Given the description of an element on the screen output the (x, y) to click on. 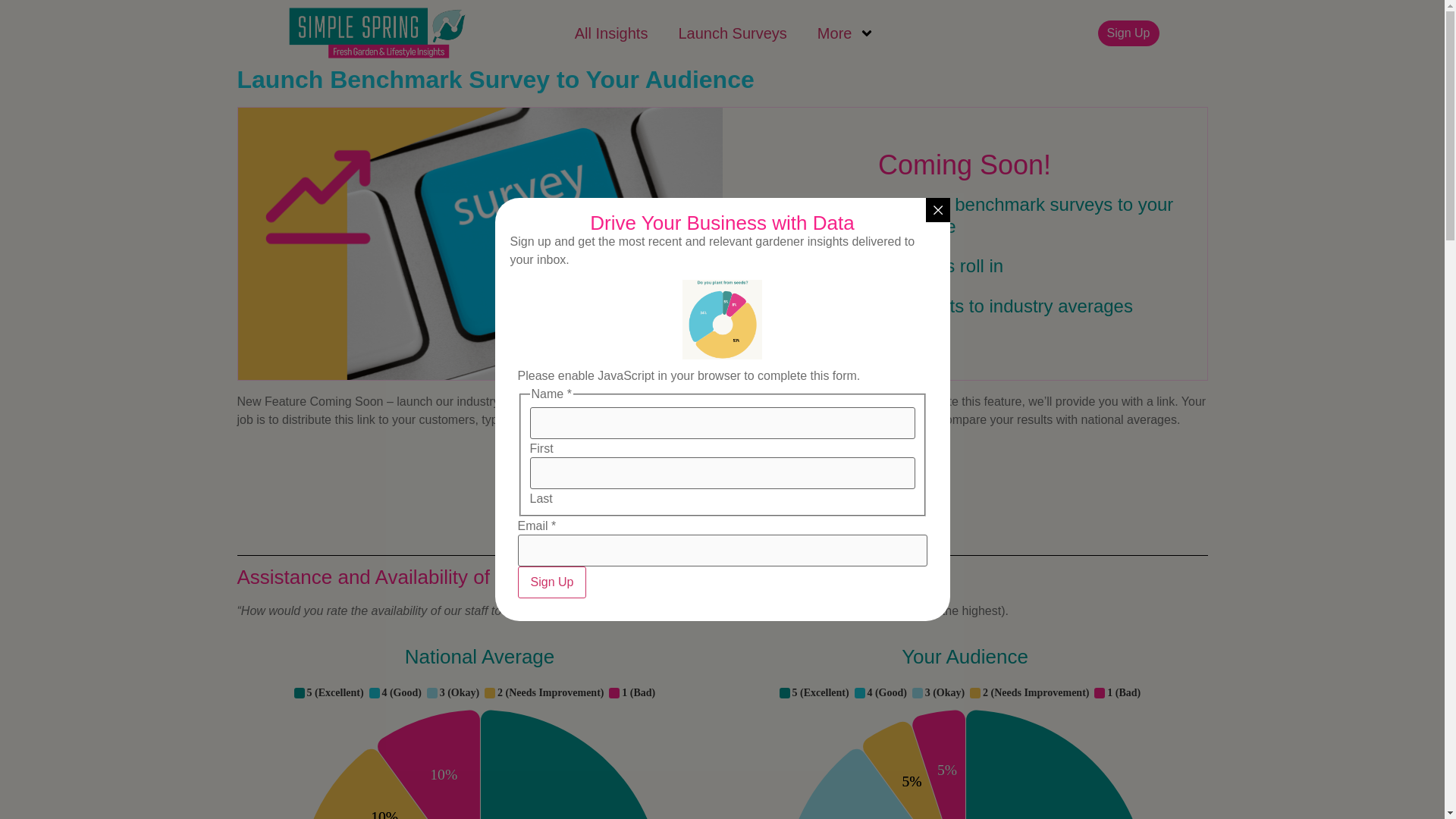
All Insights (611, 32)
Sign Up (1127, 32)
croppedSSLogo2 Simple Spring Gardening Statistics Trends (376, 33)
More (845, 32)
Launch Surveys (732, 32)
Interactive or visual content (964, 750)
Interactive or visual content (478, 750)
